Given the description of an element on the screen output the (x, y) to click on. 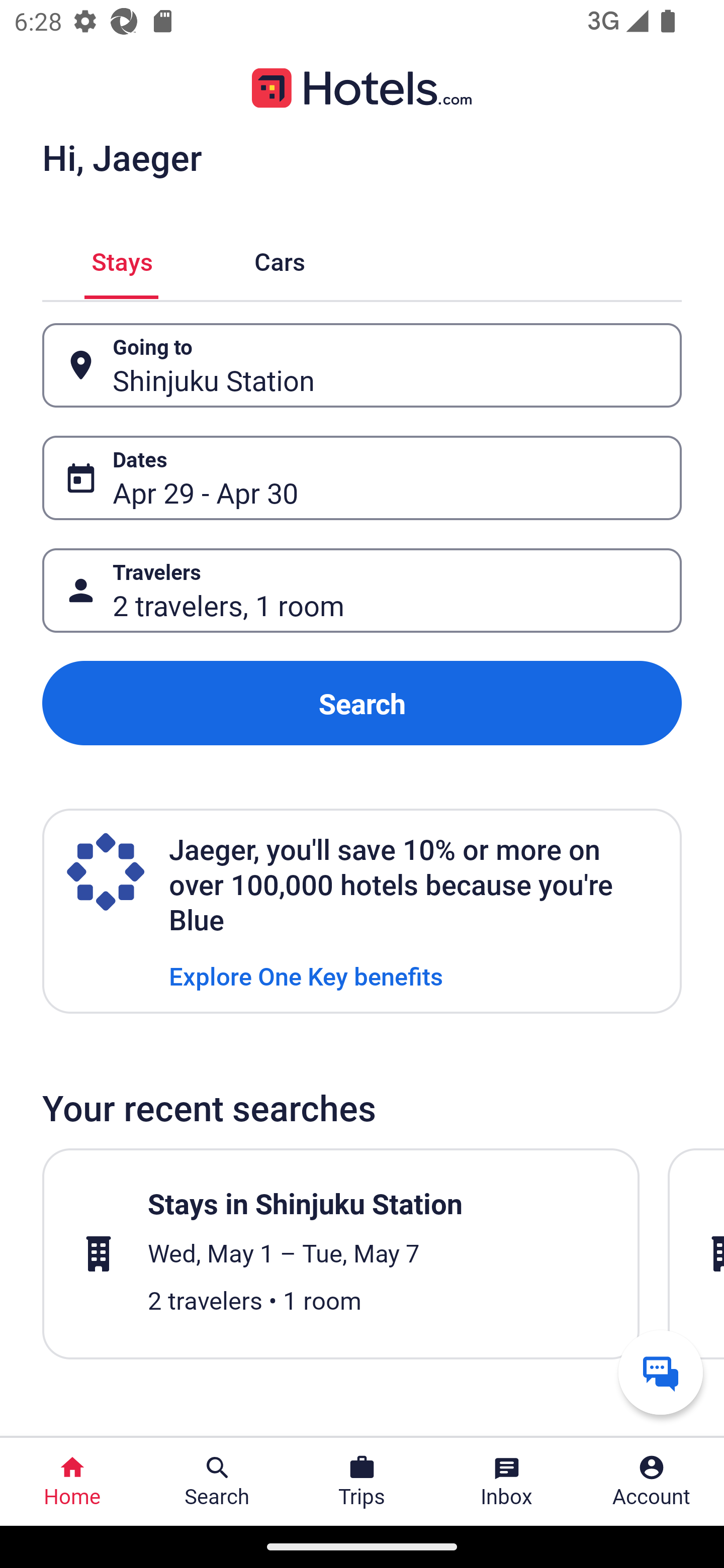
Hi, Jaeger (121, 156)
Cars (279, 259)
Going to Button Shinjuku Station (361, 365)
Dates Button Apr 29 - Apr 30 (361, 477)
Travelers Button 2 travelers, 1 room (361, 590)
Search (361, 702)
Get help from a virtual agent (660, 1371)
Search Search Button (216, 1481)
Trips Trips Button (361, 1481)
Inbox Inbox Button (506, 1481)
Account Profile. Button (651, 1481)
